Given the description of an element on the screen output the (x, y) to click on. 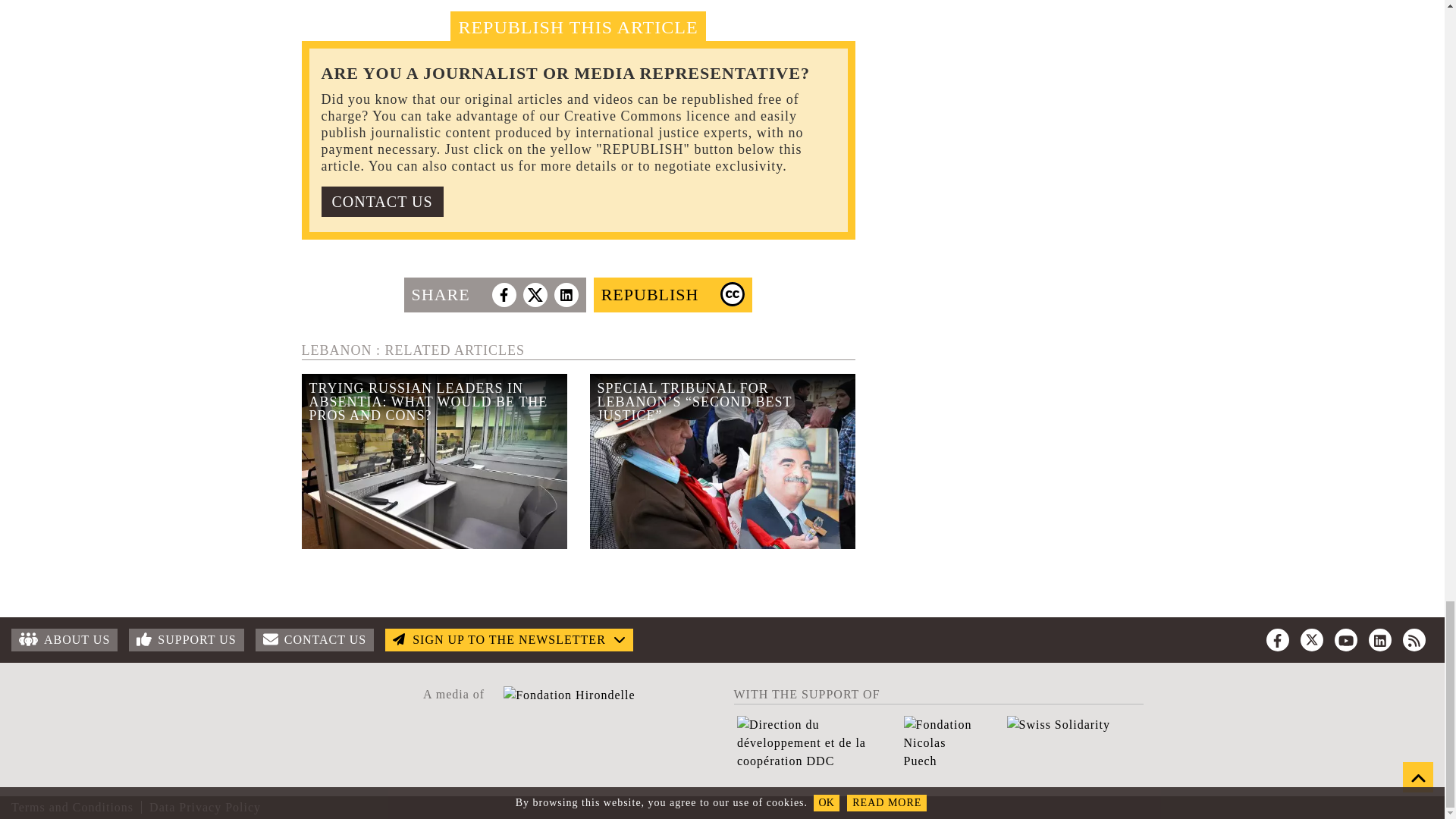
Facebook (1277, 639)
Twitter (1311, 639)
RSS (1414, 639)
Youtube (1345, 639)
LinkedIn (1379, 639)
